Given the description of an element on the screen output the (x, y) to click on. 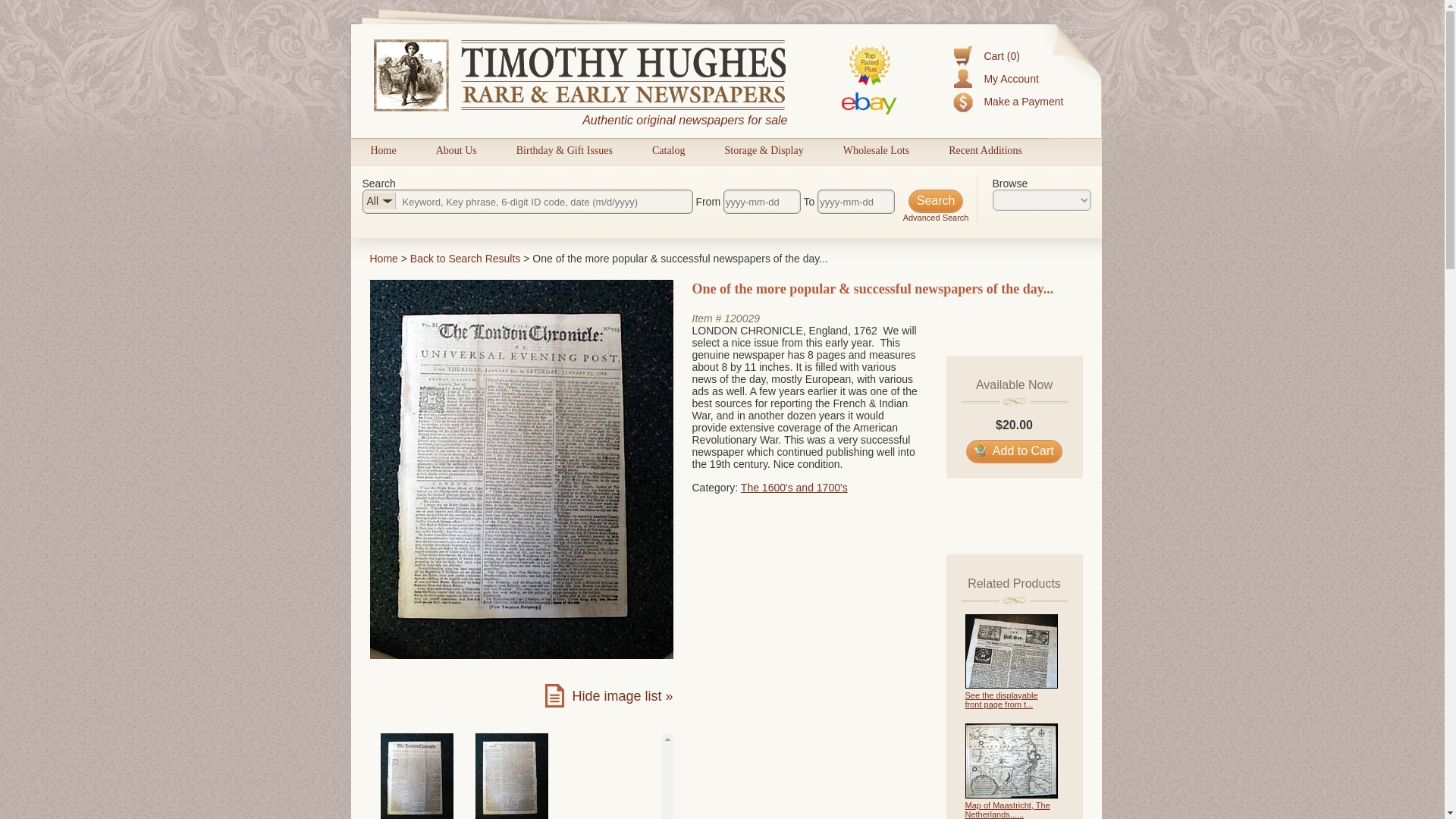
Advanced Search (935, 216)
120029 (741, 318)
Search (935, 200)
Wholesale Lots (875, 150)
Search (935, 200)
Recent Additions (985, 150)
Home (383, 258)
The 1600's and 1700's (794, 487)
Add to Cart (1014, 451)
See the displayable front page from t... (999, 700)
Catalog (668, 150)
Advanced Search (935, 216)
Home (383, 258)
My Account (1011, 78)
Make a Payment (1023, 101)
